Given the description of an element on the screen output the (x, y) to click on. 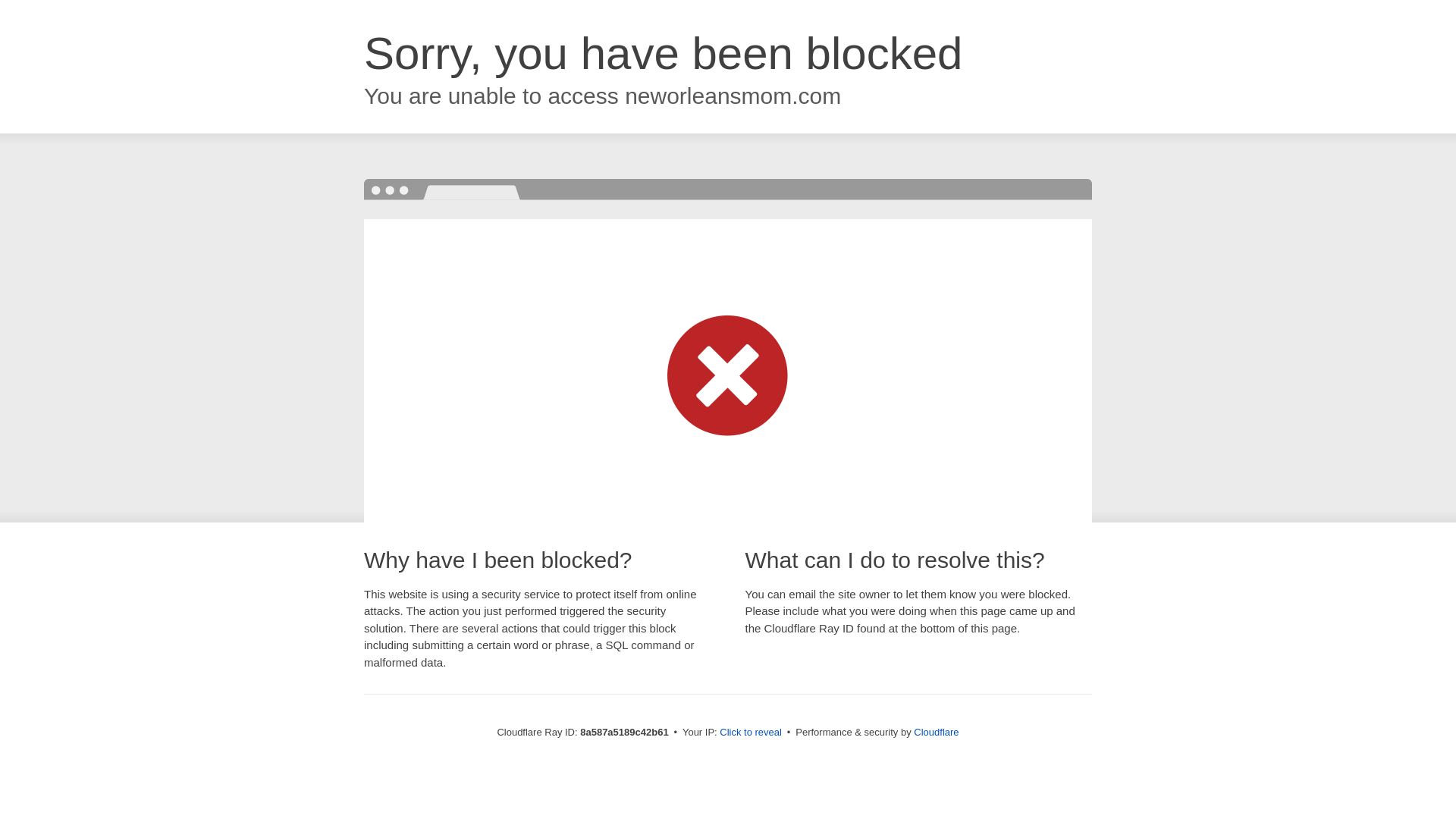
Cloudflare (936, 731)
Click to reveal (750, 732)
